Given the description of an element on the screen output the (x, y) to click on. 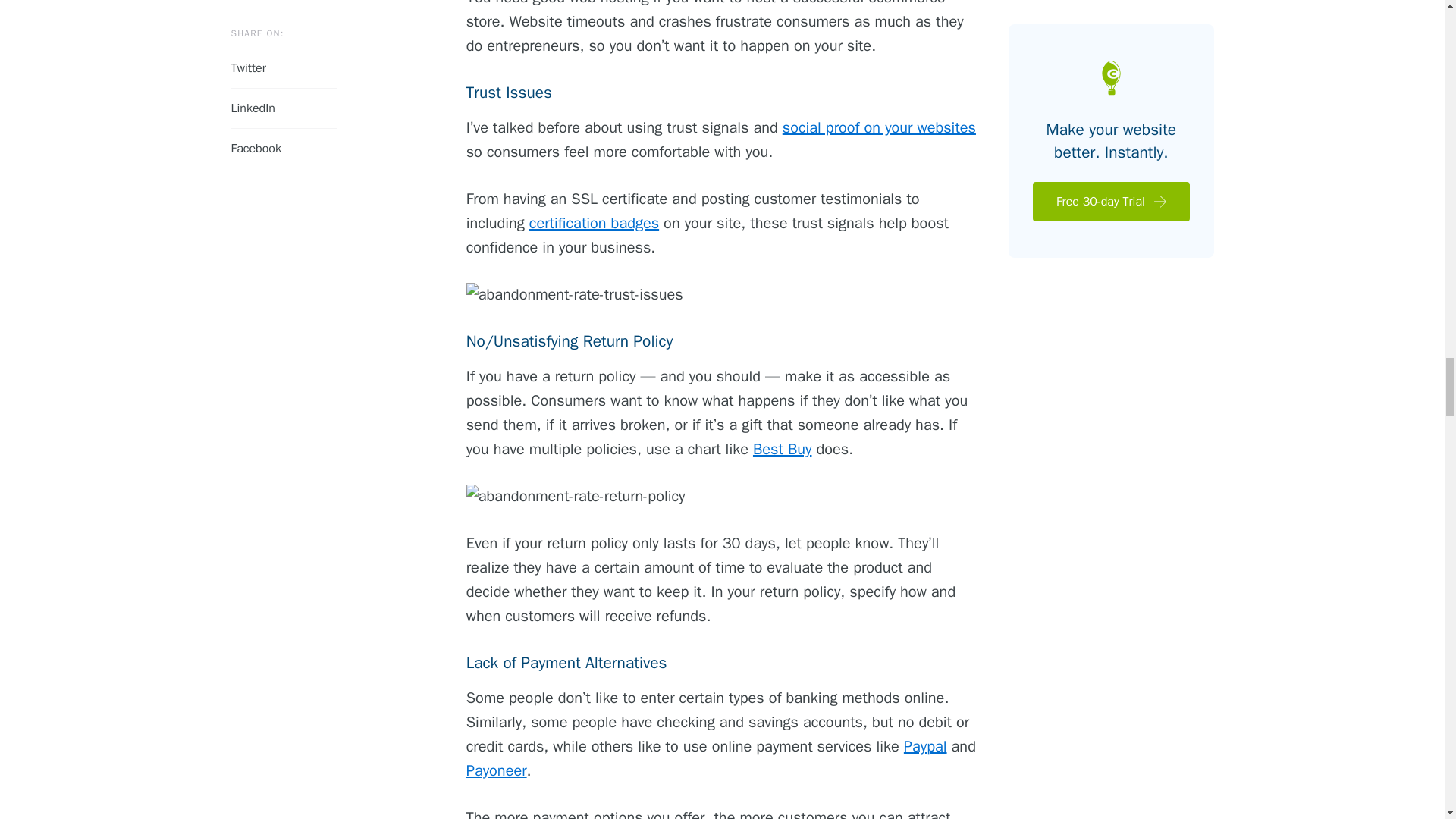
social proof on your websites (879, 127)
Payoneer (496, 770)
Paypal (925, 746)
certification badges (594, 222)
Best Buy (782, 448)
